Given the description of an element on the screen output the (x, y) to click on. 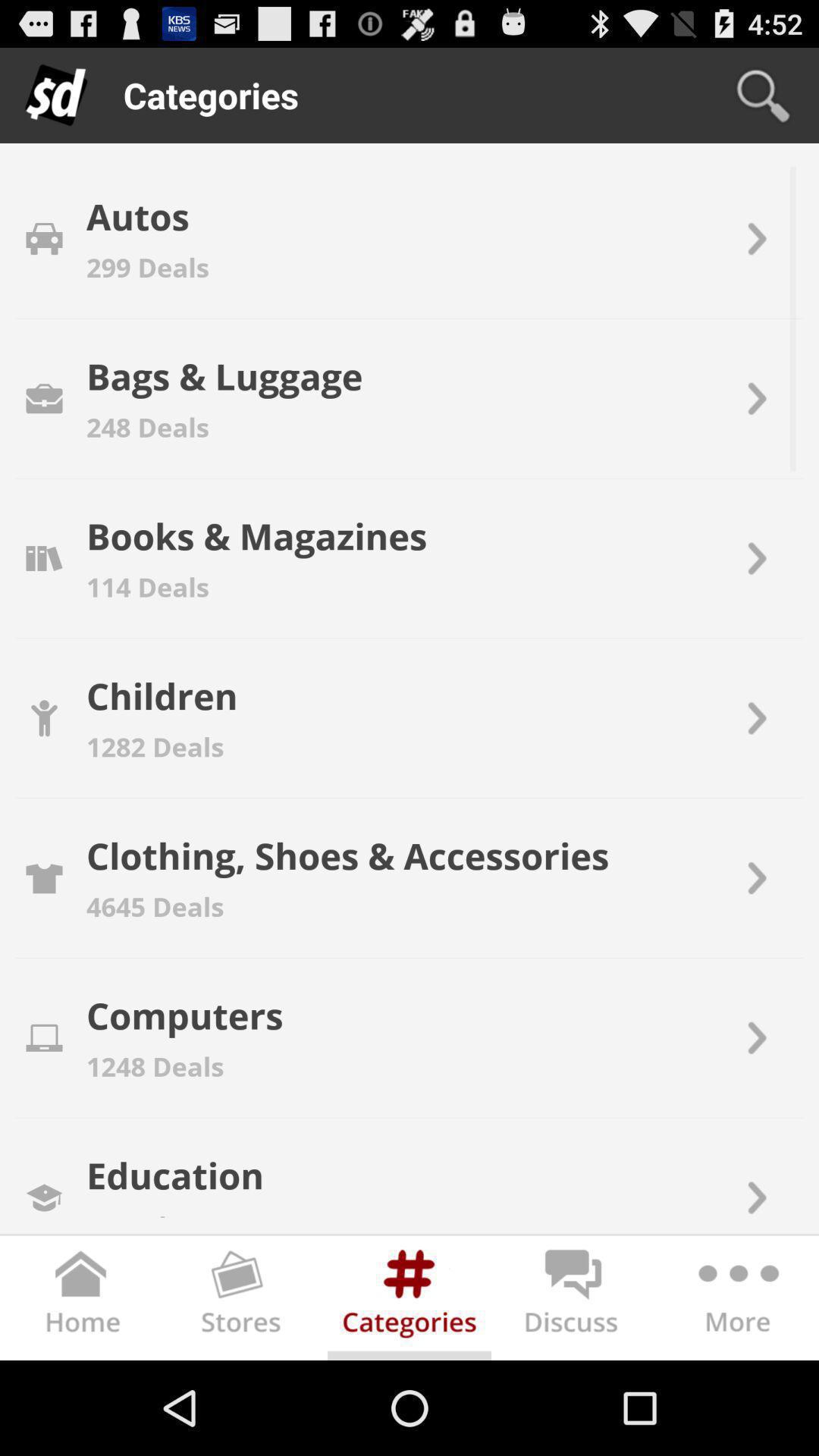
go to stores (245, 1301)
